Given the description of an element on the screen output the (x, y) to click on. 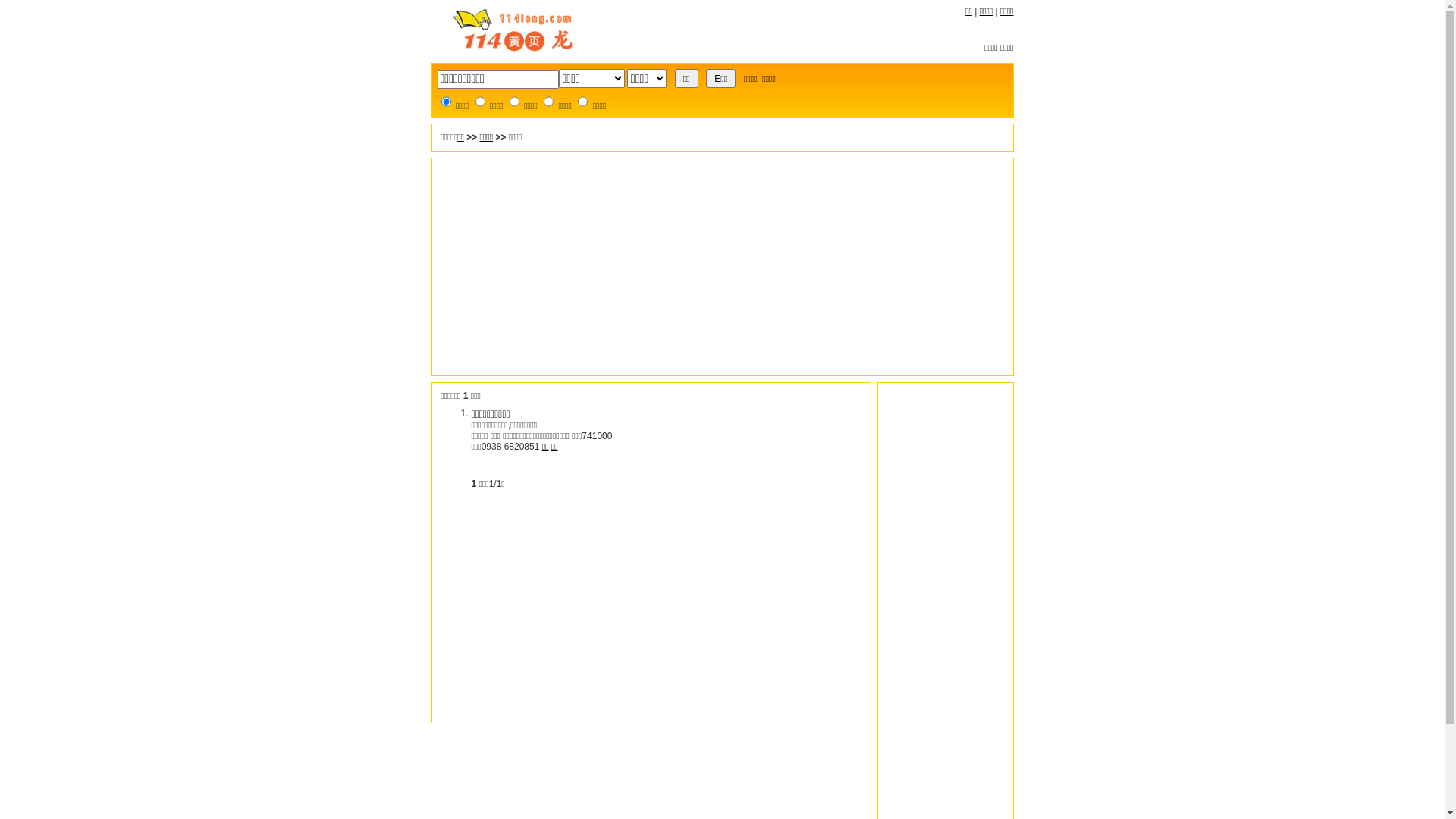
Advertisement Element type: hover (721, 266)
Advertisement Element type: hover (650, 612)
